Given the description of an element on the screen output the (x, y) to click on. 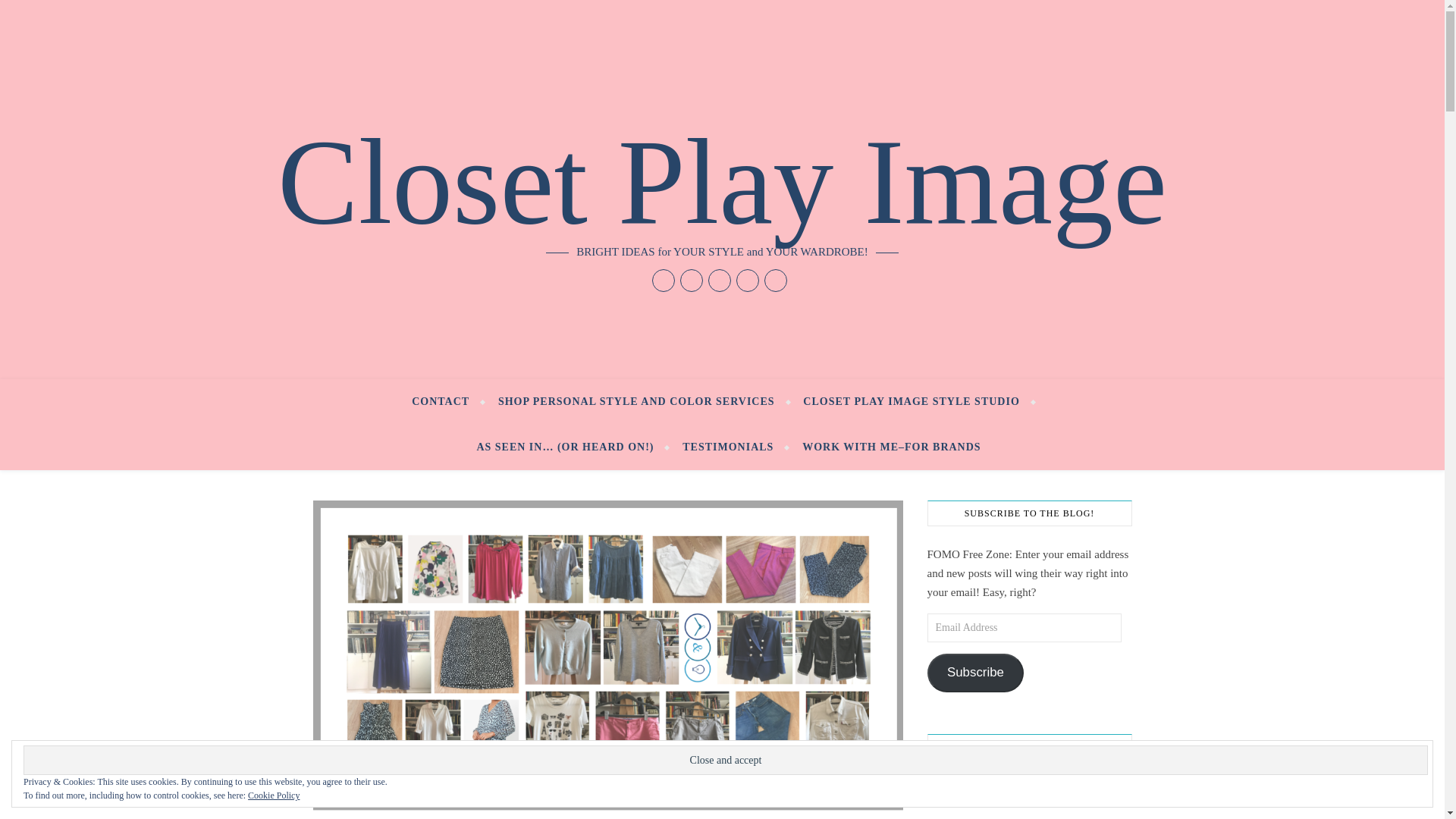
TESTIMONIALS (727, 447)
CONTACT (446, 402)
Close and accept (725, 759)
CLOSET PLAY IMAGE STYLE STUDIO (911, 402)
Closet Play Image (722, 181)
SHOP PERSONAL STYLE AND COLOR SERVICES (635, 402)
